Given the description of an element on the screen output the (x, y) to click on. 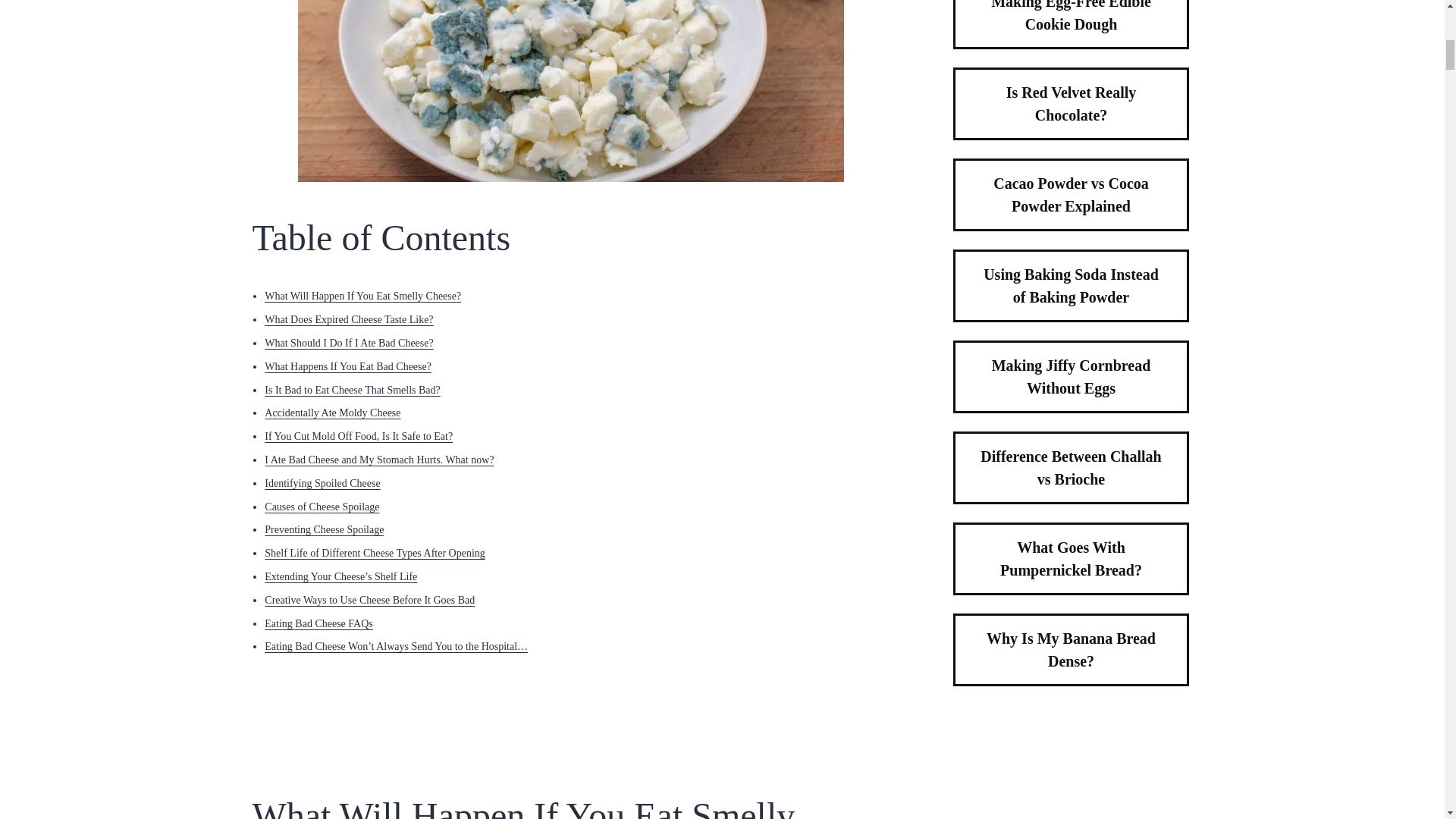
Creative Ways to Use Cheese Before It Goes Bad (369, 600)
What Does Expired Cheese Taste Like? (348, 319)
What Should I Do If I Ate Bad Cheese? (348, 342)
Shelf Life of Different Cheese Types After Opening (374, 552)
What Happens If You Eat Bad Cheese? (347, 366)
I Ate Bad Cheese and My Stomach Hurts. What now? (378, 460)
Is It Bad to Eat Cheese That Smells Bad? (351, 389)
Preventing Cheese Spoilage (324, 529)
What Will Happen If You Eat Smelly Cheese? (362, 296)
Eating Bad Cheese FAQs (318, 623)
